Given the description of an element on the screen output the (x, y) to click on. 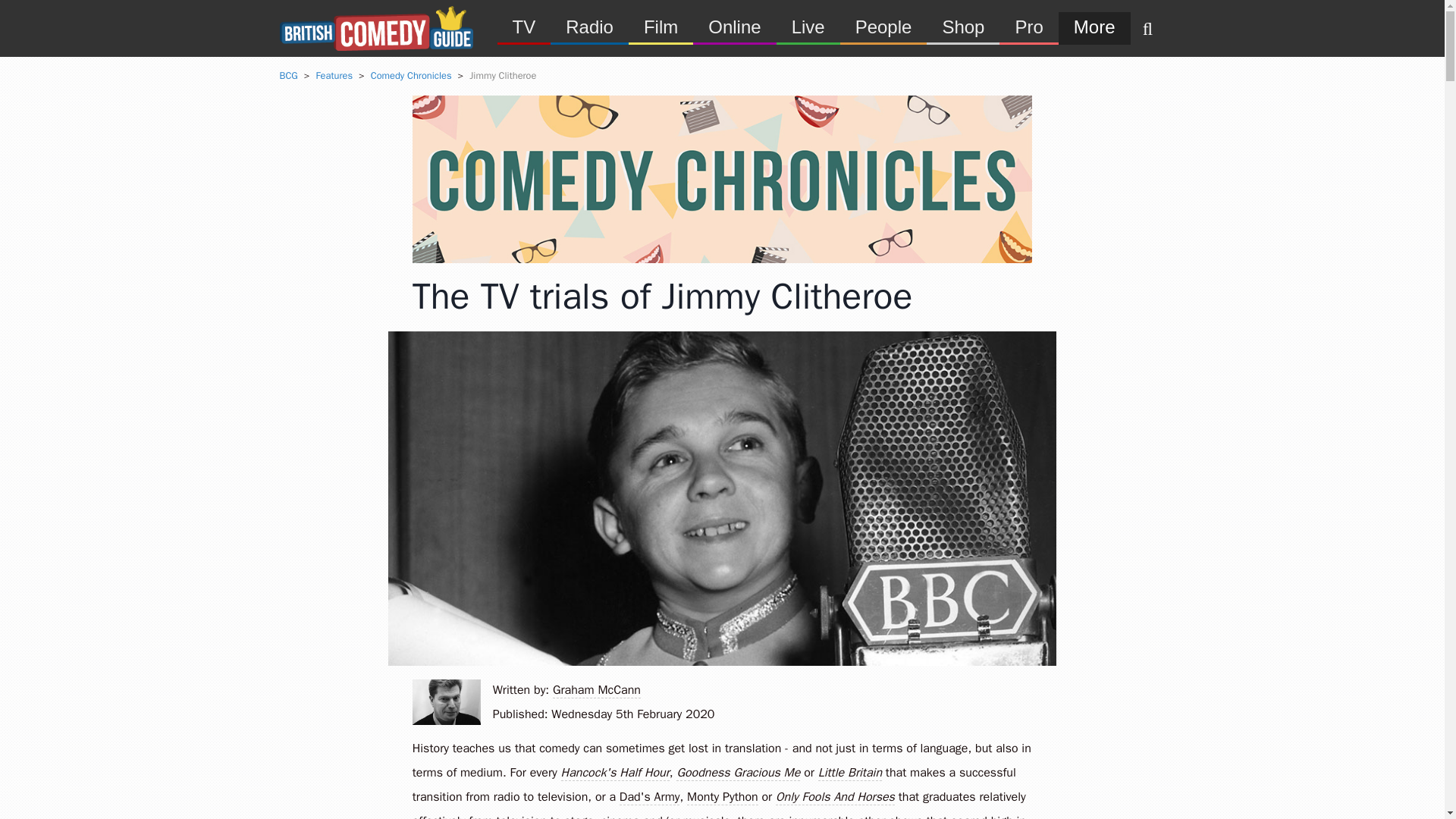
Graham McCann (596, 690)
Graham McCann (446, 701)
TV (524, 26)
BCG (288, 75)
Online (734, 26)
Goodness Gracious Me (738, 772)
Film (660, 26)
Click to find out more about Dad's Army (649, 797)
Only Fools And Horses (835, 797)
Shop (962, 26)
Hancock's Half Hour (614, 772)
Live (808, 26)
